Given the description of an element on the screen output the (x, y) to click on. 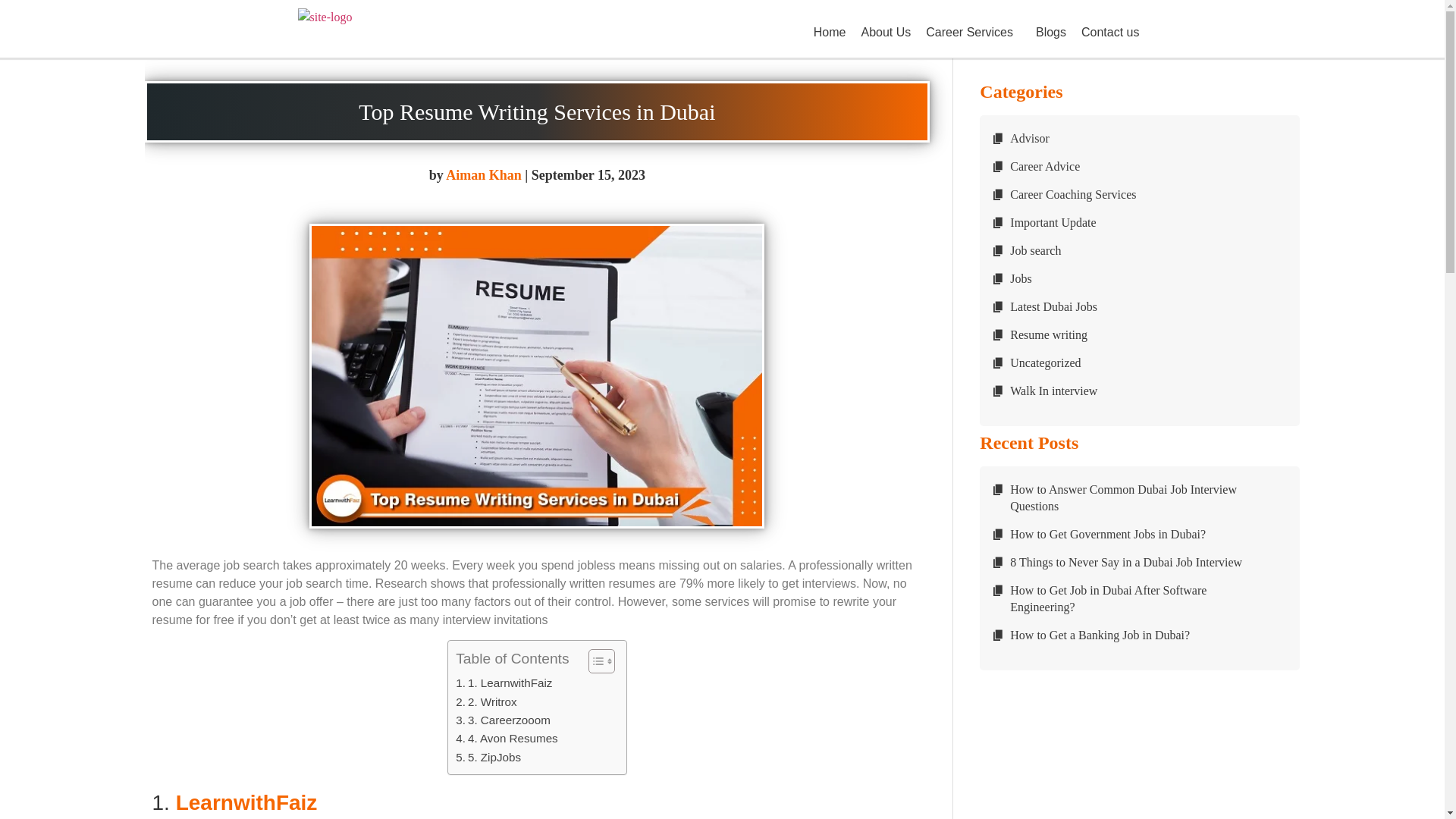
1. LearnwithFaiz (503, 683)
site-logo (324, 17)
Blogs (1050, 32)
2. Writrox (485, 701)
4. Avon Resumes (506, 738)
Posts by LearnwithFaiz (483, 174)
3. Careerzooom (502, 720)
3. Careerzooom (502, 720)
Career Services (972, 32)
Home (829, 32)
